Given the description of an element on the screen output the (x, y) to click on. 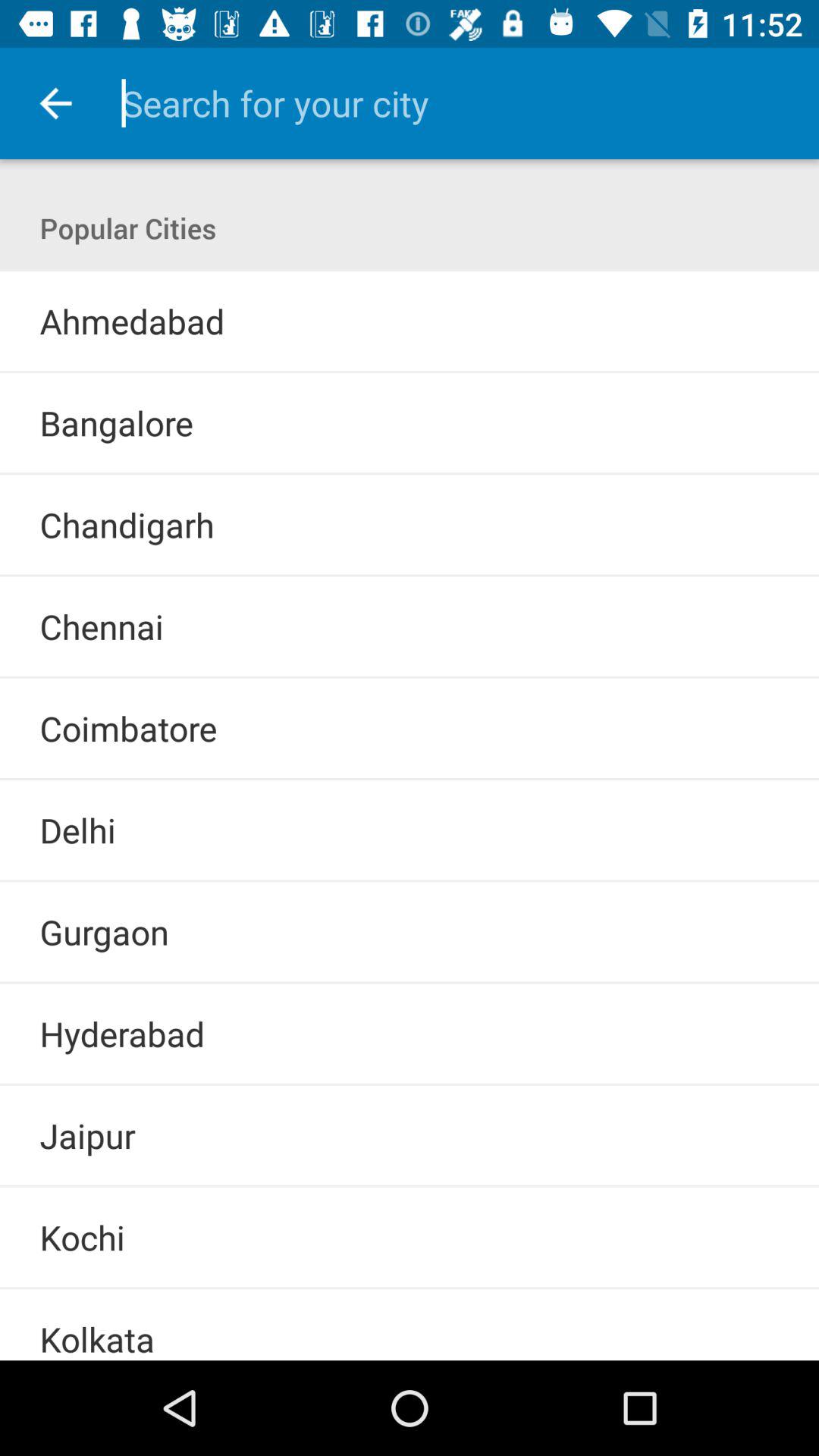
click kochi item (82, 1237)
